Given the description of an element on the screen output the (x, y) to click on. 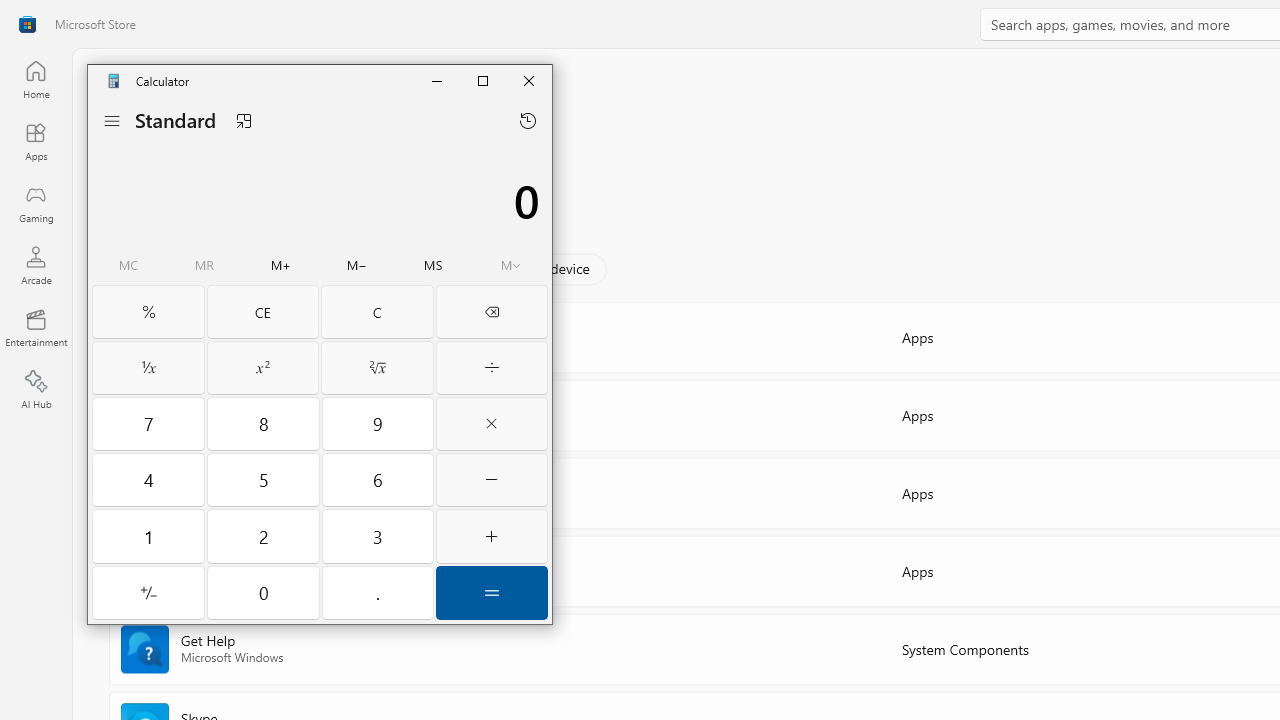
Eight (263, 423)
Zero (263, 592)
Class: Image (27, 24)
Open memory flyout (510, 265)
Decimal separator (377, 592)
Square root (377, 368)
Memory recall (204, 265)
Five (263, 479)
Four (148, 479)
Gaming (35, 203)
Nine (377, 423)
Close Calculator (528, 80)
Clear entry (262, 312)
Reciprocal (148, 368)
Minus (491, 479)
